Given the description of an element on the screen output the (x, y) to click on. 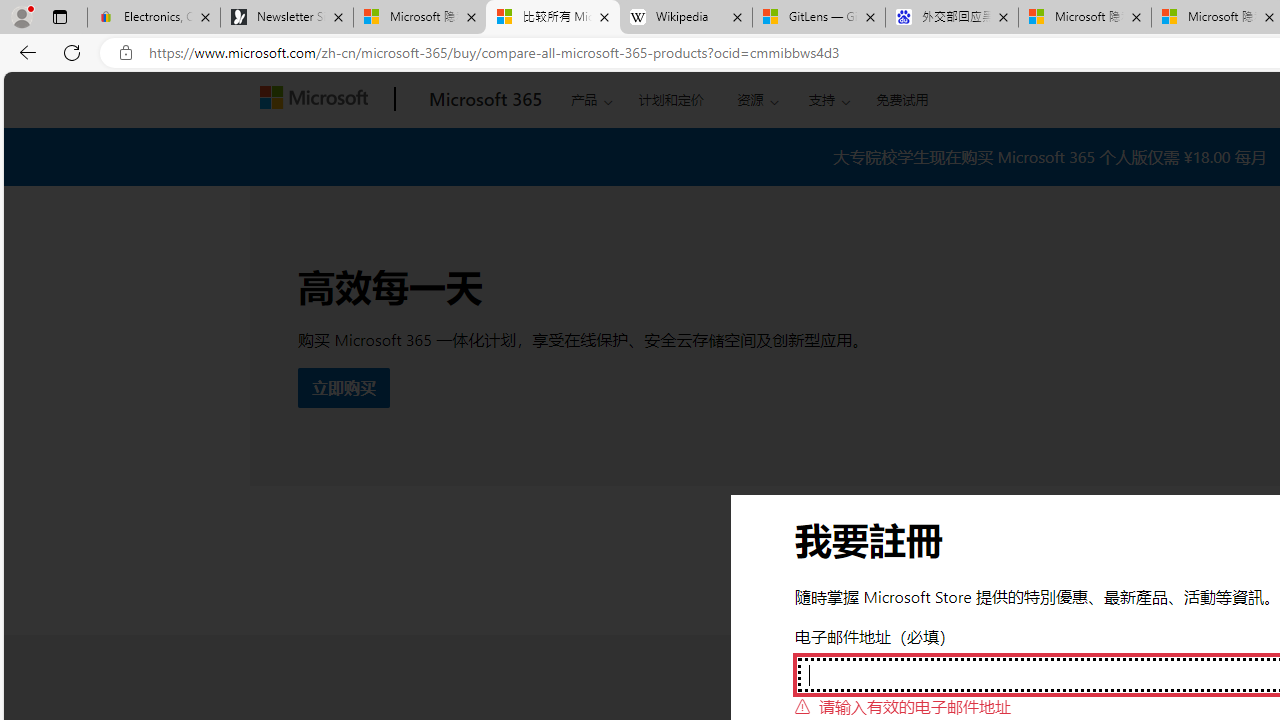
Newsletter Sign Up (287, 17)
